Given the description of an element on the screen output the (x, y) to click on. 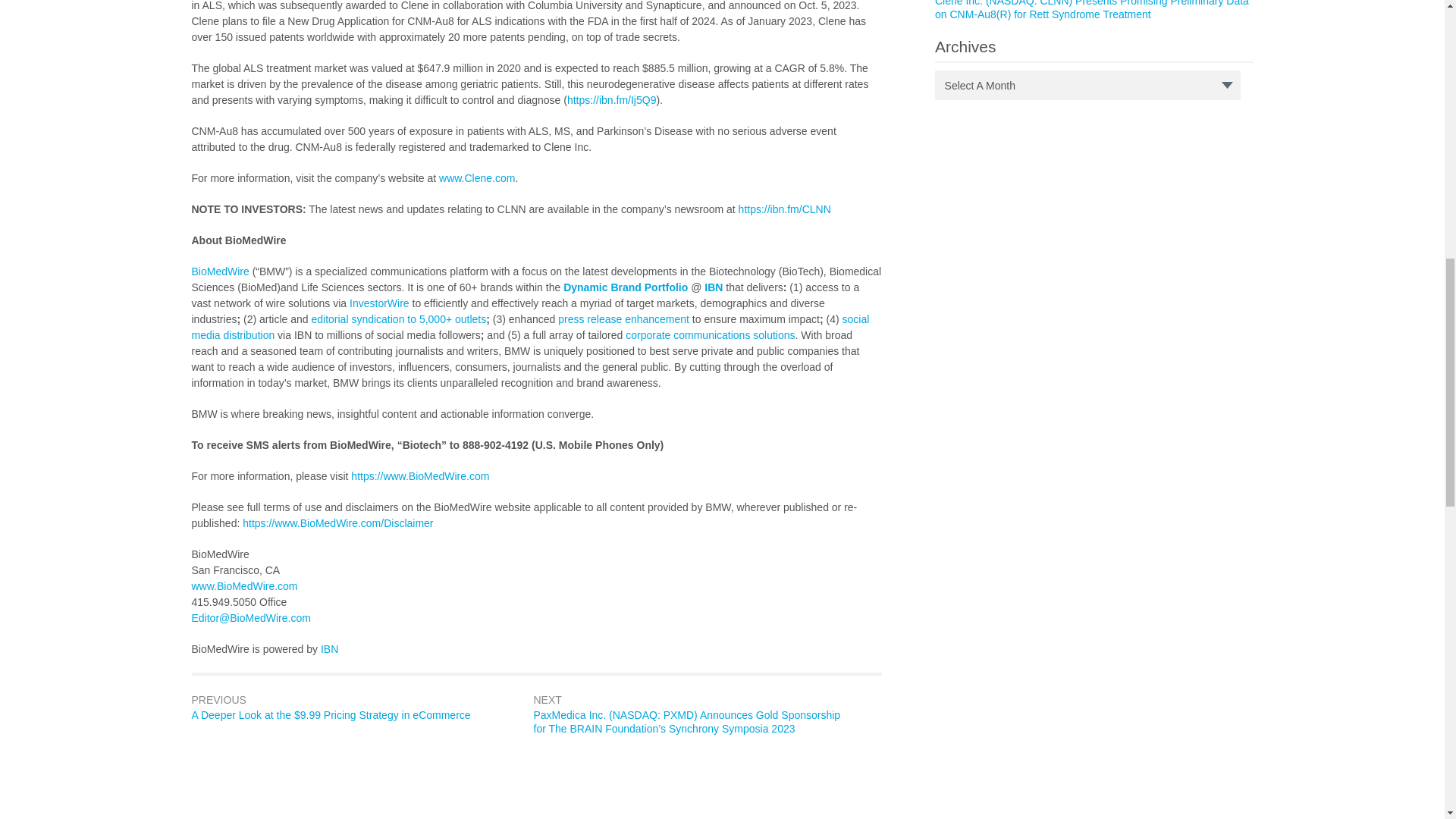
social media distribution (529, 326)
corporate communications solutions (710, 335)
press release enhancement (622, 318)
www.BioMedWire.com (243, 585)
Dynamic Brand Portfolio (625, 287)
BioMedWire (219, 271)
InvestorWire (379, 303)
IBN (328, 648)
IBN (713, 287)
www.Clene.com (477, 177)
